Given the description of an element on the screen output the (x, y) to click on. 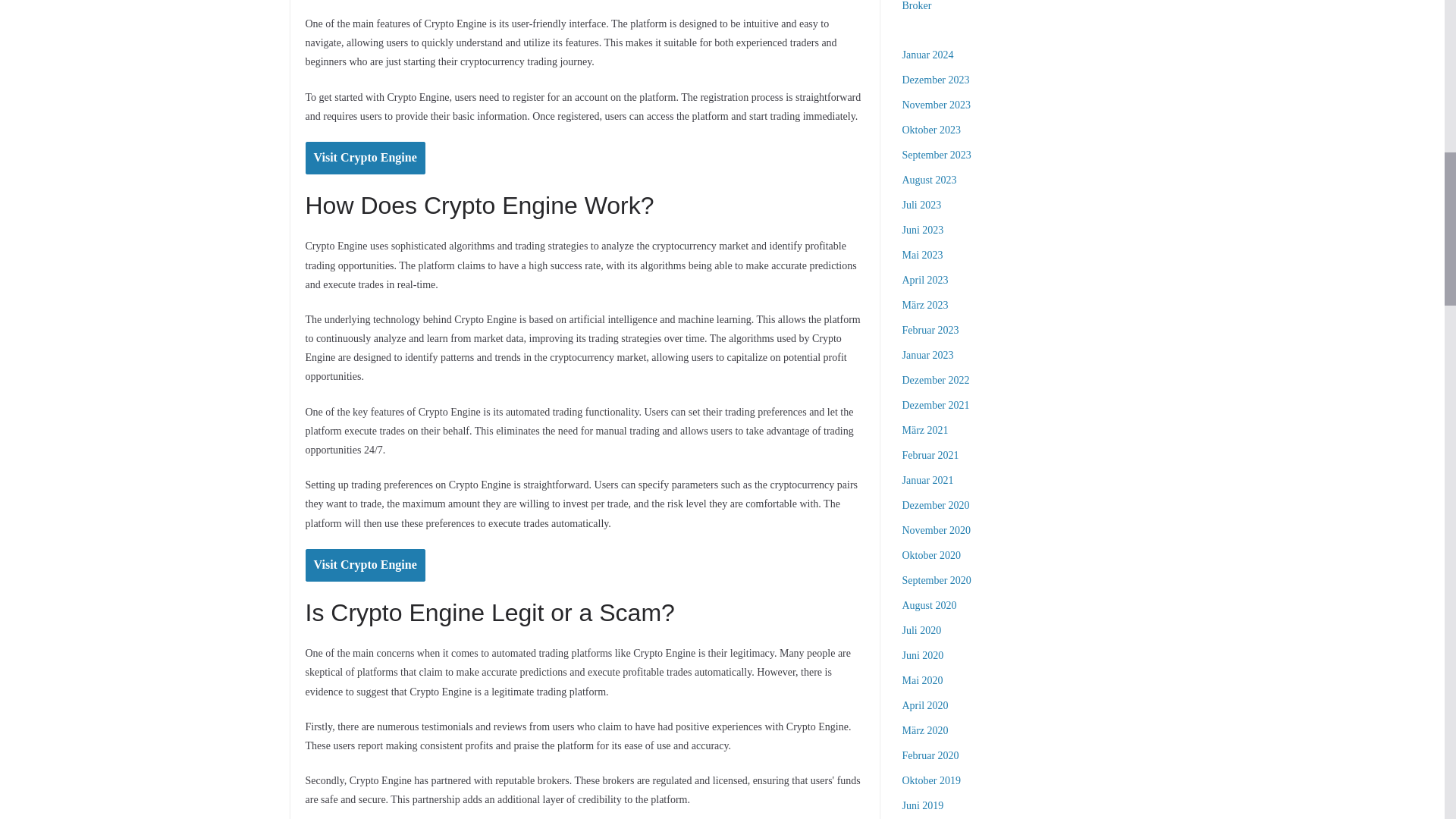
September 2023 (936, 154)
Visit Crypto Engine (364, 157)
Visit Crypto Engine (364, 564)
Januar 2024 (927, 54)
Oktober 2023 (931, 129)
Dezember 2023 (935, 79)
November 2023 (936, 104)
Visit Crypto Engine (364, 564)
Visit Crypto Engine (364, 157)
August 2023 (929, 179)
